Given the description of an element on the screen output the (x, y) to click on. 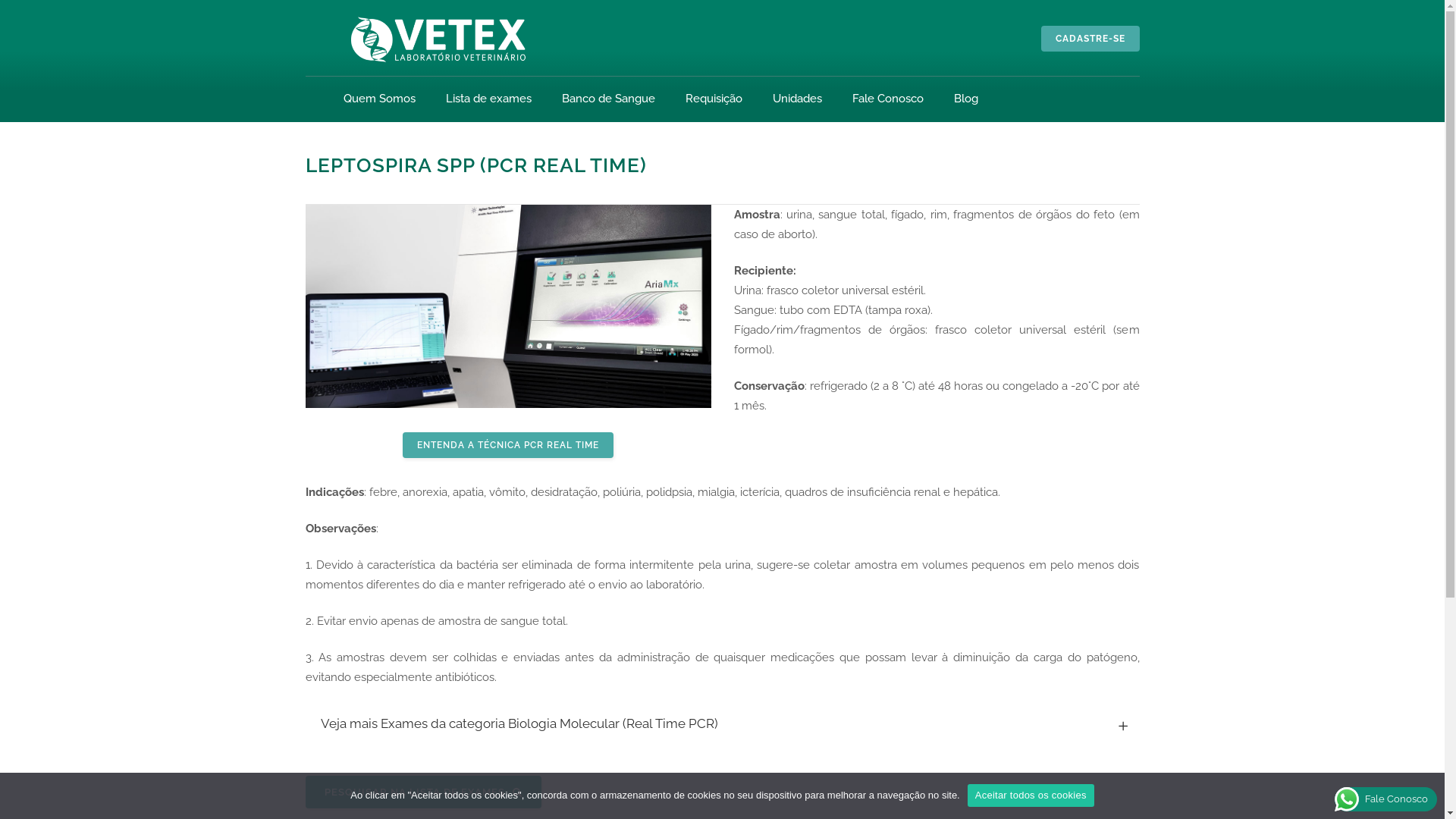
Quem Somos Element type: text (378, 98)
Blog Element type: text (965, 98)
CADASTRE-SE Element type: text (1089, 38)
Fale Conosco Element type: text (886, 98)
Lista de exames Element type: text (487, 98)
Banco de Sangue Element type: text (608, 98)
Aceitar todos os cookies Element type: text (1030, 795)
PESQUISAR NA LISTA DE EXAMES Element type: text (422, 791)
Unidades Element type: text (796, 98)
